Given the description of an element on the screen output the (x, y) to click on. 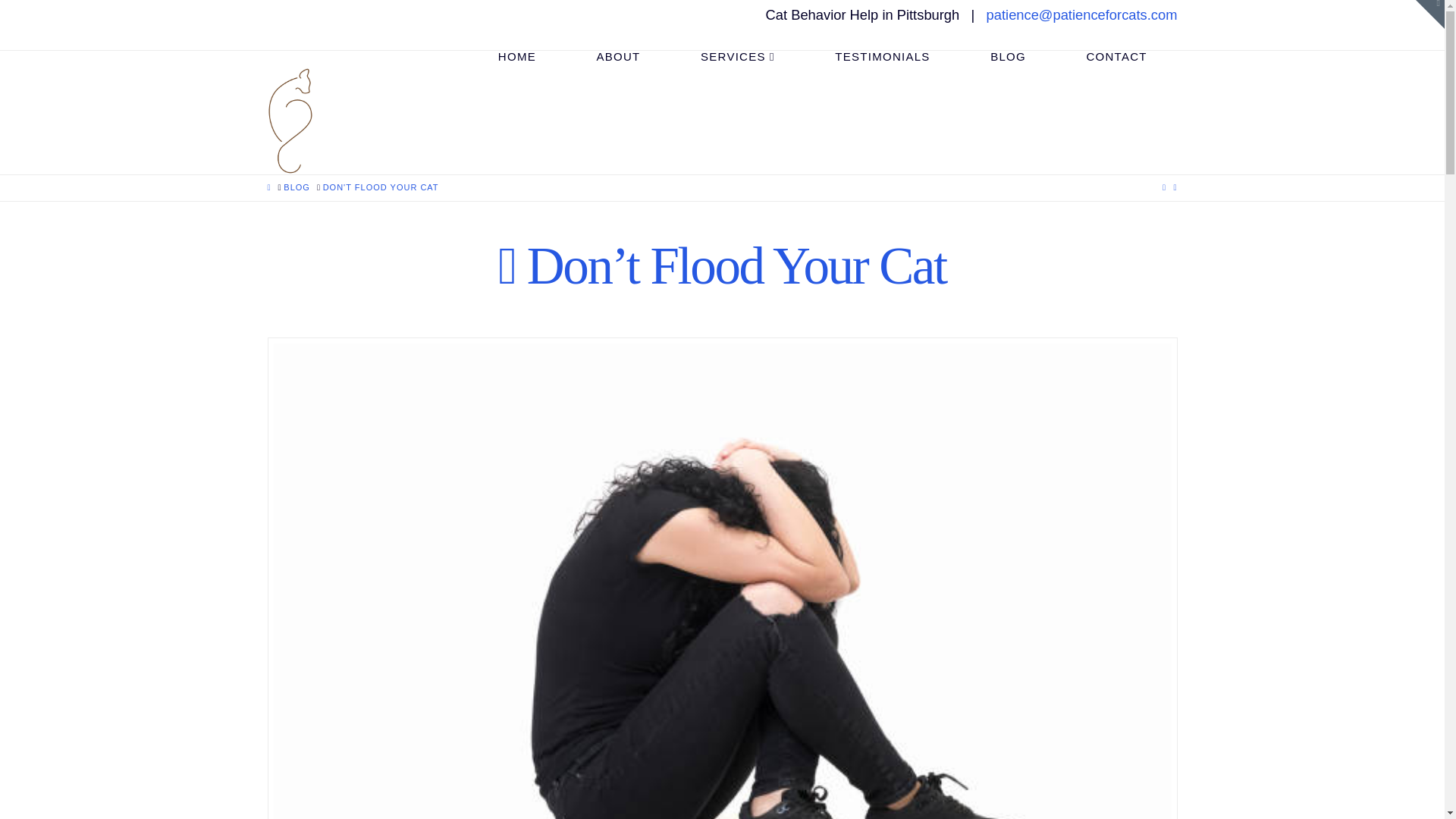
DON'T FLOOD YOUR CAT (381, 187)
You Are Here (381, 187)
BLOG (1007, 84)
SERVICES (737, 84)
TESTIMONIALS (882, 84)
BLOG (296, 187)
CONTACT (1117, 84)
HOME (516, 84)
ABOUT (618, 84)
